Given the description of an element on the screen output the (x, y) to click on. 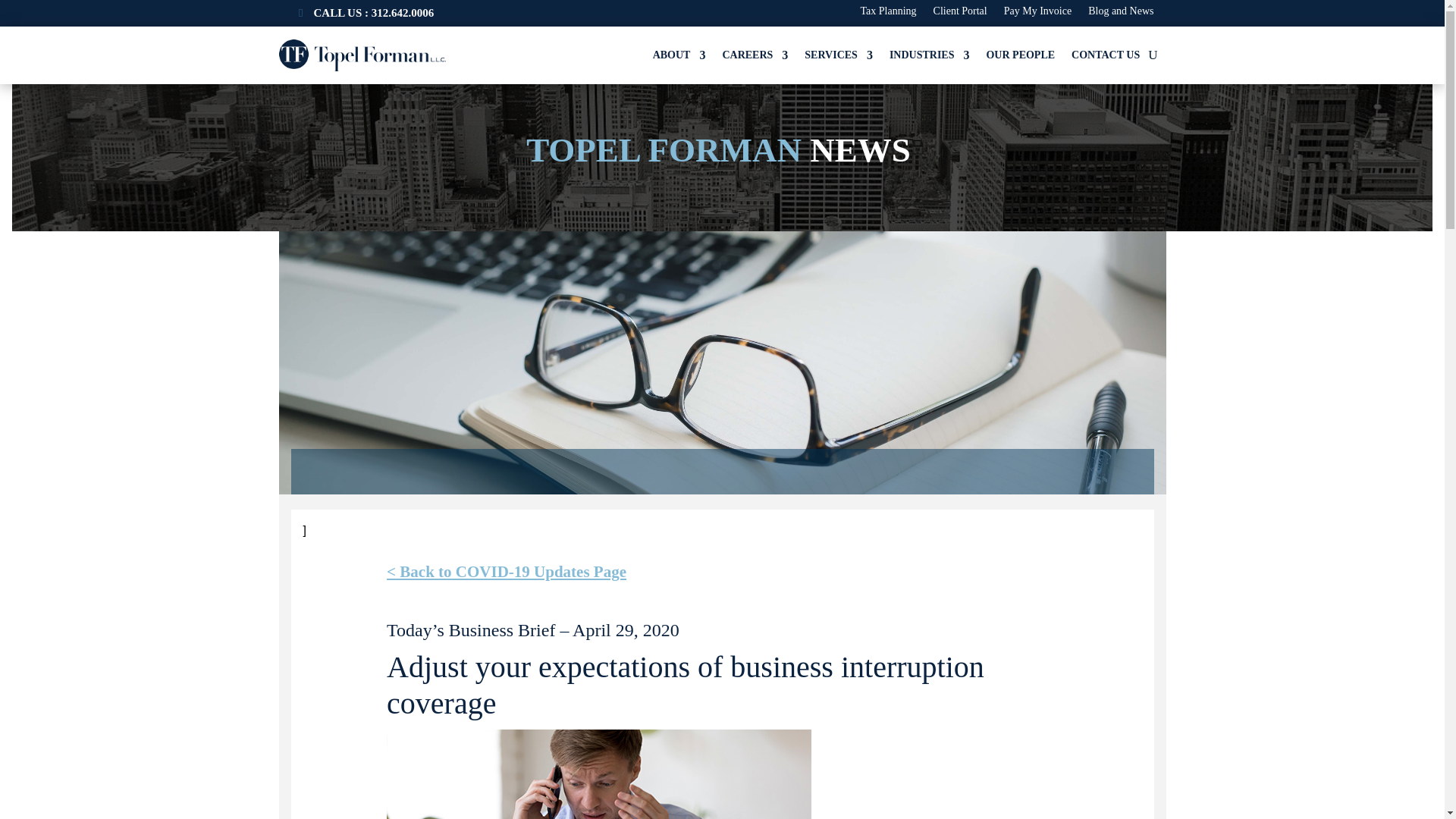
INDUSTRIES (929, 55)
SERVICES (838, 55)
Tax Planning (887, 13)
CALL US : 312.642.0006 (366, 13)
Blog and News (1120, 13)
CAREERS (754, 55)
Pay My Invoice (1037, 13)
ABOUT (679, 55)
Client Portal (960, 13)
